Given the description of an element on the screen output the (x, y) to click on. 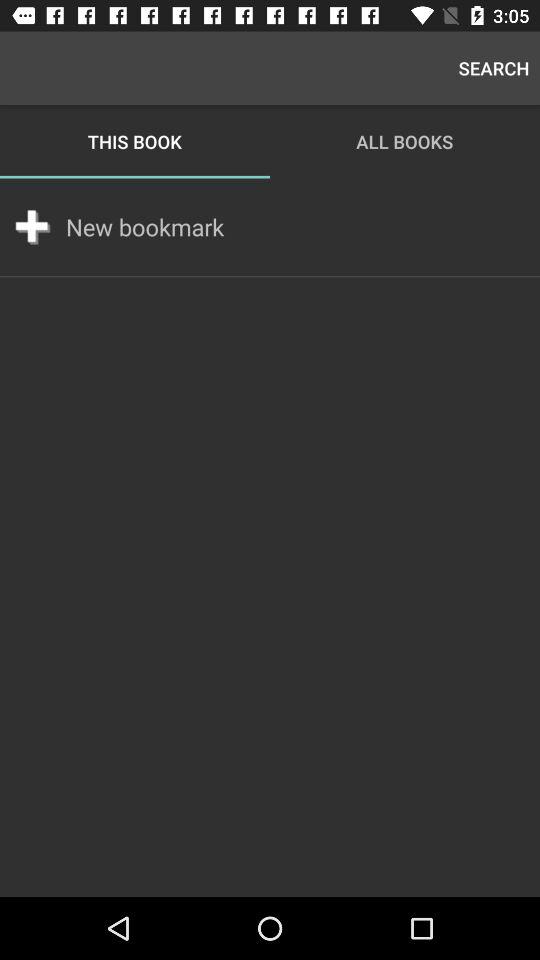
turn off new bookmark (145, 227)
